Given the description of an element on the screen output the (x, y) to click on. 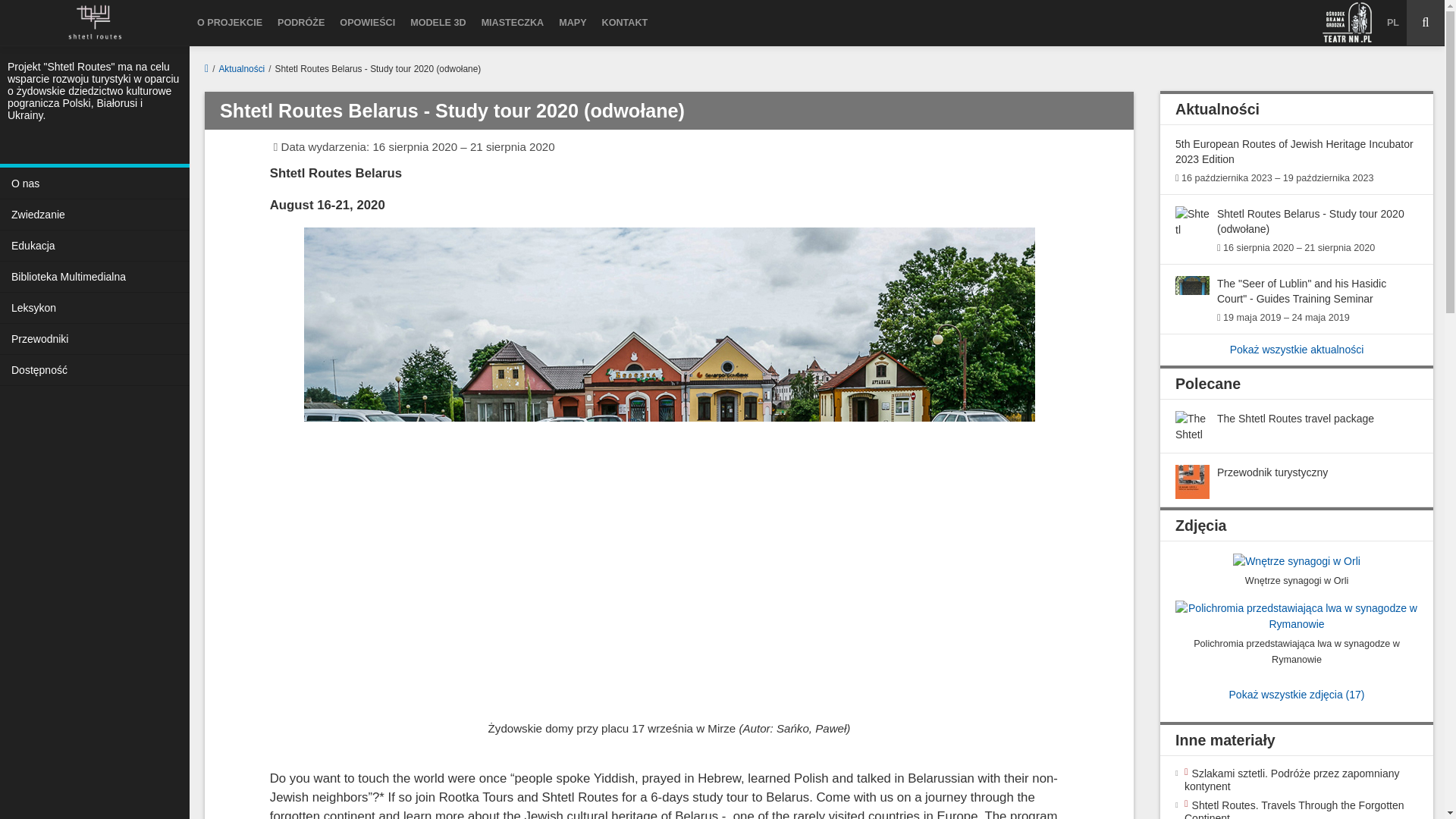
Zwiedzanie (94, 214)
O PROJEKCIE (229, 22)
MODELE 3D (438, 22)
KONTAKT (625, 22)
MIASTECZKA (512, 22)
MAPY (572, 22)
O nas (94, 183)
Edukacja (94, 245)
